Given the description of an element on the screen output the (x, y) to click on. 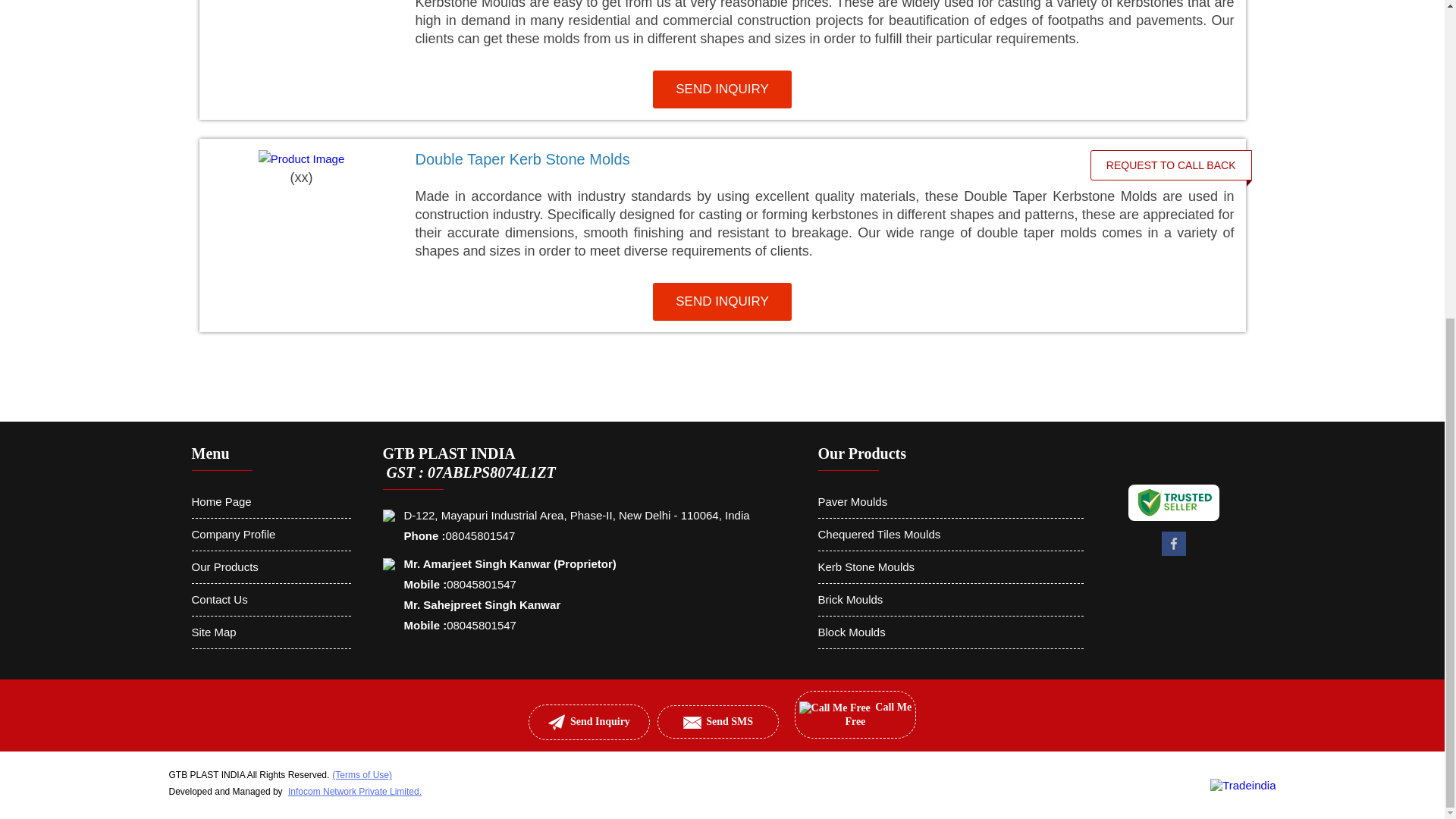
Call Me Free (834, 707)
Send Inquiry (556, 722)
Double Taper Kerb Stone Molds (742, 158)
Send SMS (691, 722)
Facebook (1173, 554)
